Given the description of an element on the screen output the (x, y) to click on. 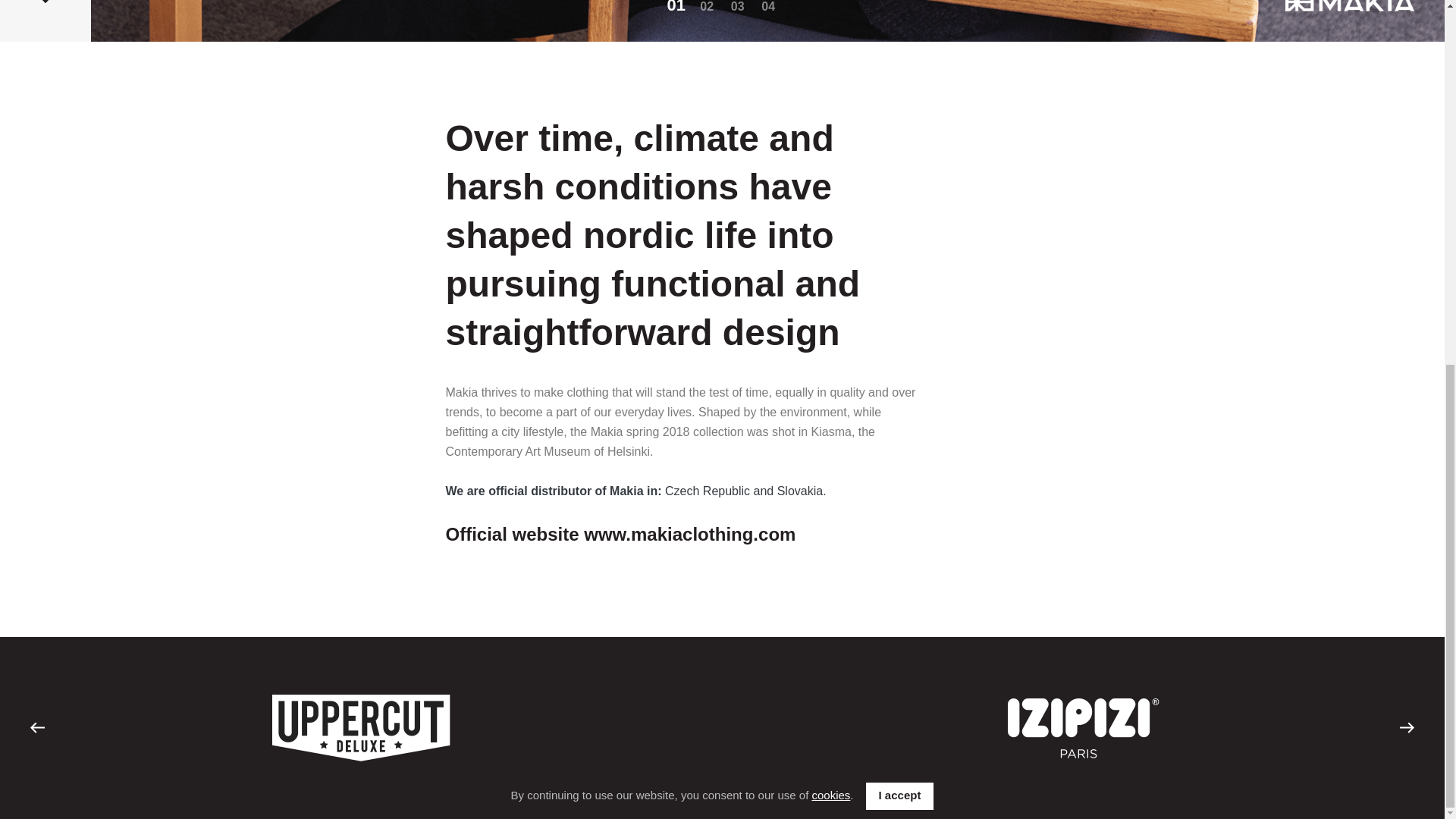
03 (737, 8)
I accept (900, 141)
04 (767, 8)
www.makiaclothing.com (688, 534)
02 (706, 8)
cookies (830, 140)
01 (675, 7)
